Given the description of an element on the screen output the (x, y) to click on. 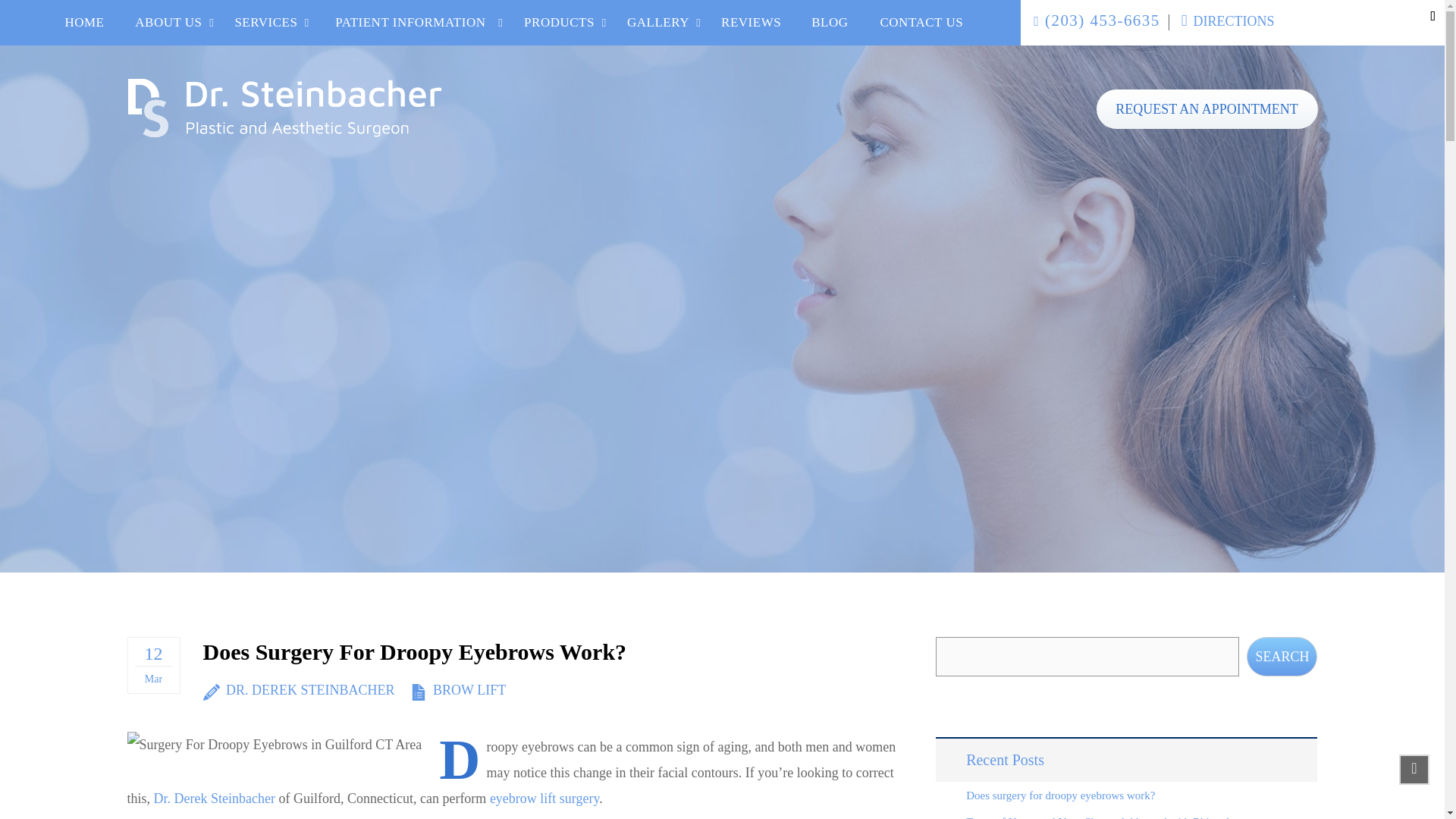
SERVICES (265, 22)
ABOUT US (168, 22)
HOME (84, 22)
Link open in new window (1227, 20)
